Given the description of an element on the screen output the (x, y) to click on. 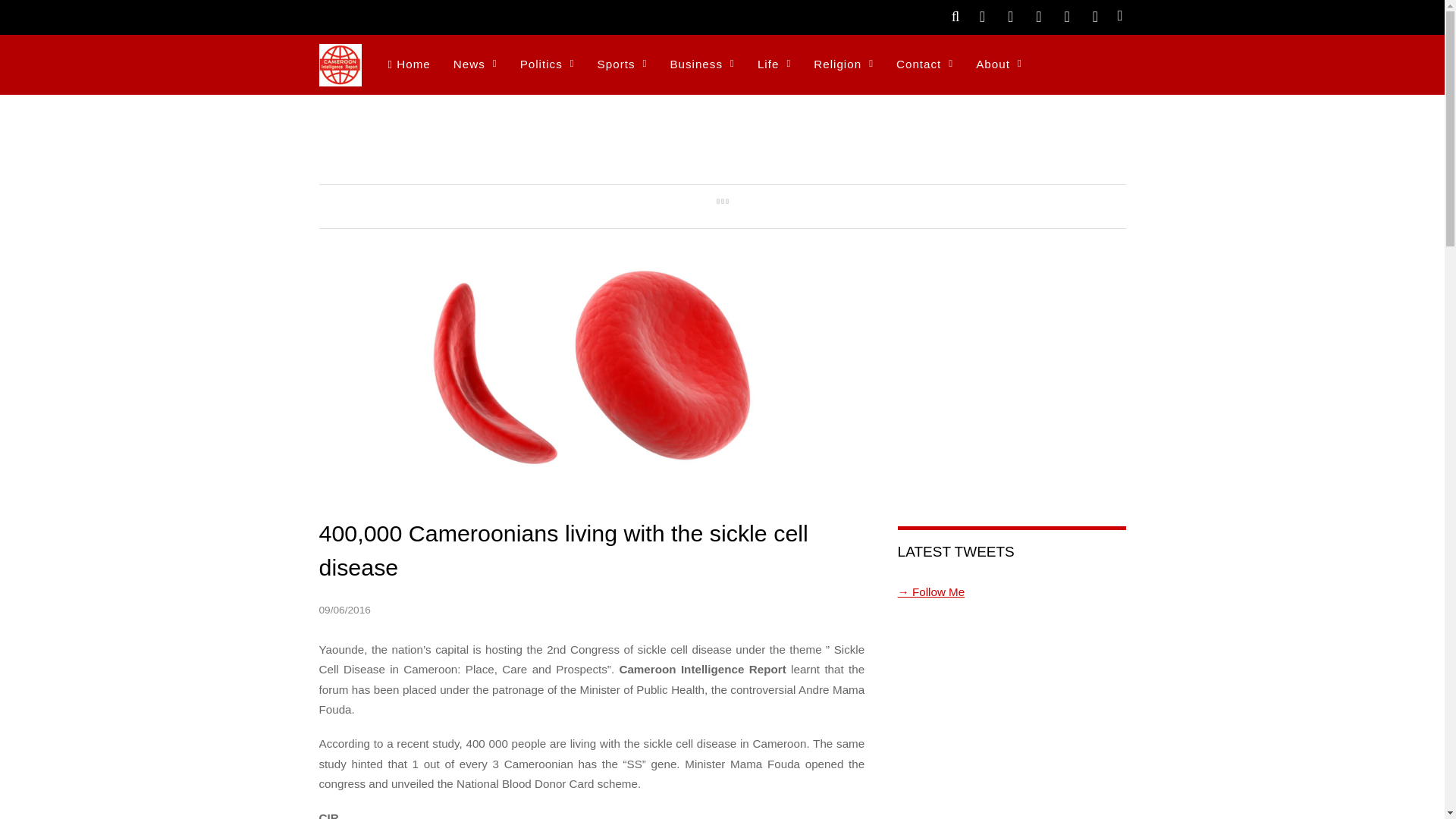
Linkedin (1094, 15)
Contact (924, 65)
Politics (547, 65)
Sports (622, 65)
Cameroon Intelligence Report (339, 77)
Business (701, 65)
Religion (843, 65)
Life (773, 65)
News (475, 65)
Home (408, 65)
